Given the description of an element on the screen output the (x, y) to click on. 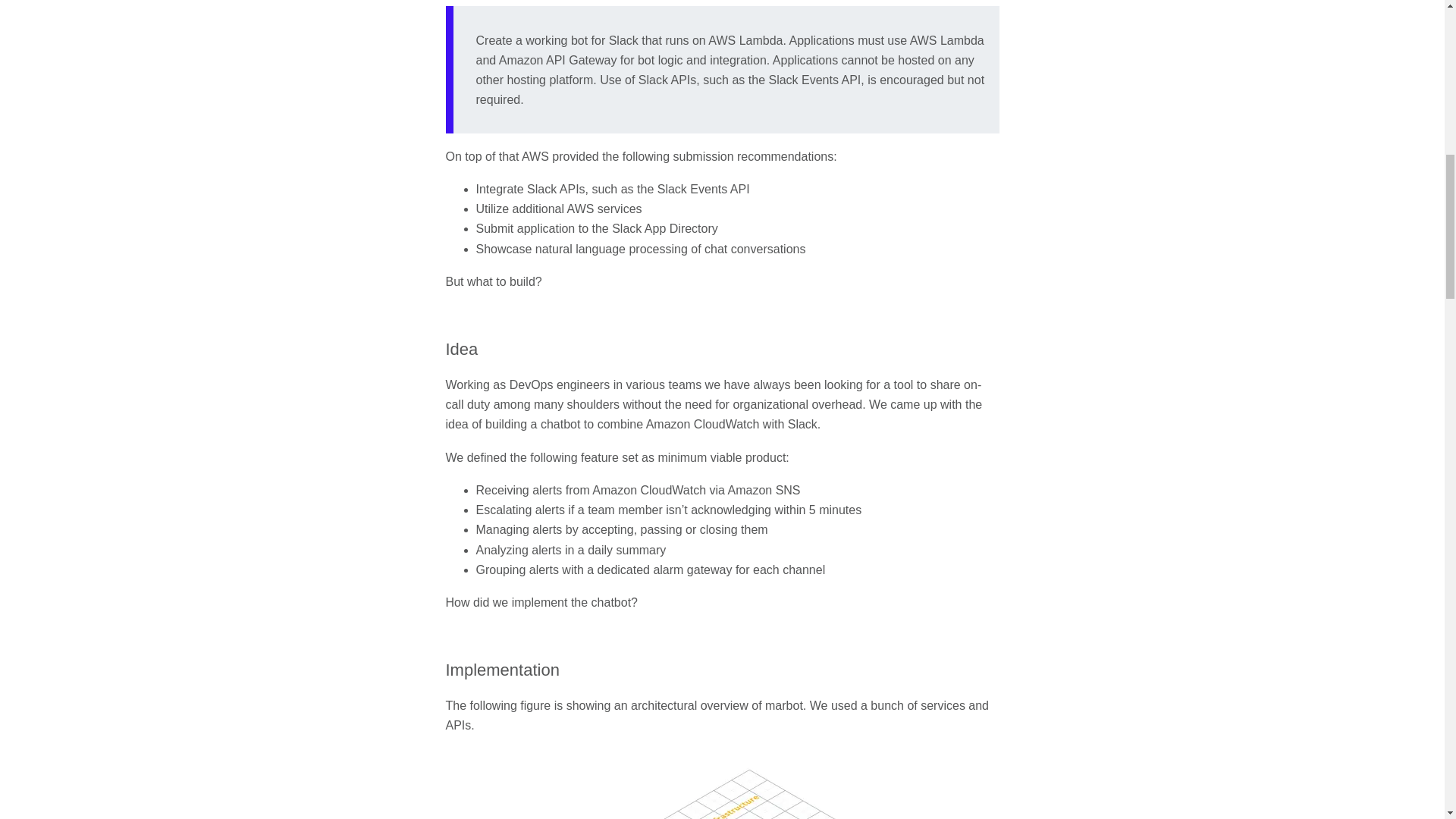
Serverless Architecture of marbot (721, 784)
